Given the description of an element on the screen output the (x, y) to click on. 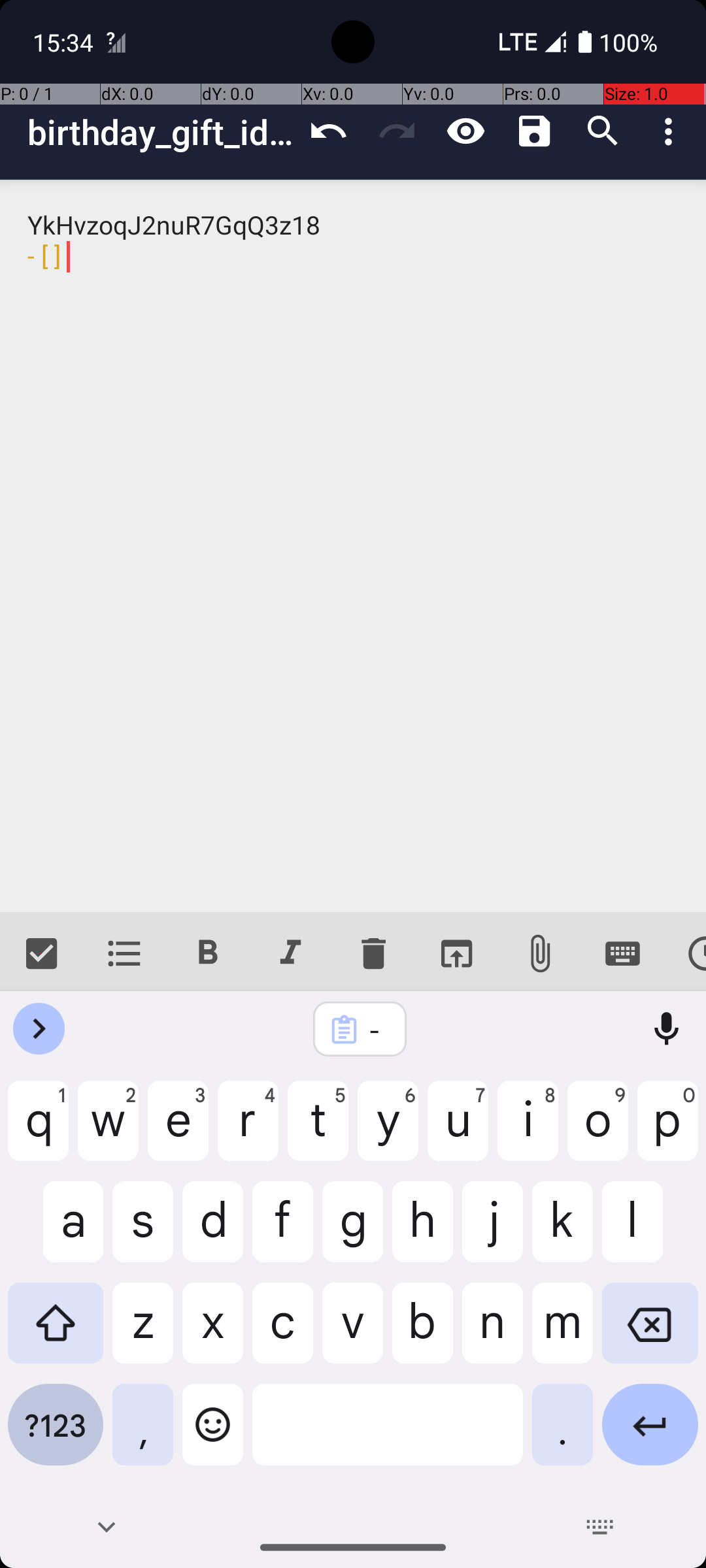
birthday_gift_ideas_mom_final Element type: android.widget.TextView (160, 131)
YkHvzoqJ2nuR7GqQ3z18
- [ ]  Element type: android.widget.EditText (353, 545)
-  Element type: android.widget.TextView (376, 1029)
